Given the description of an element on the screen output the (x, y) to click on. 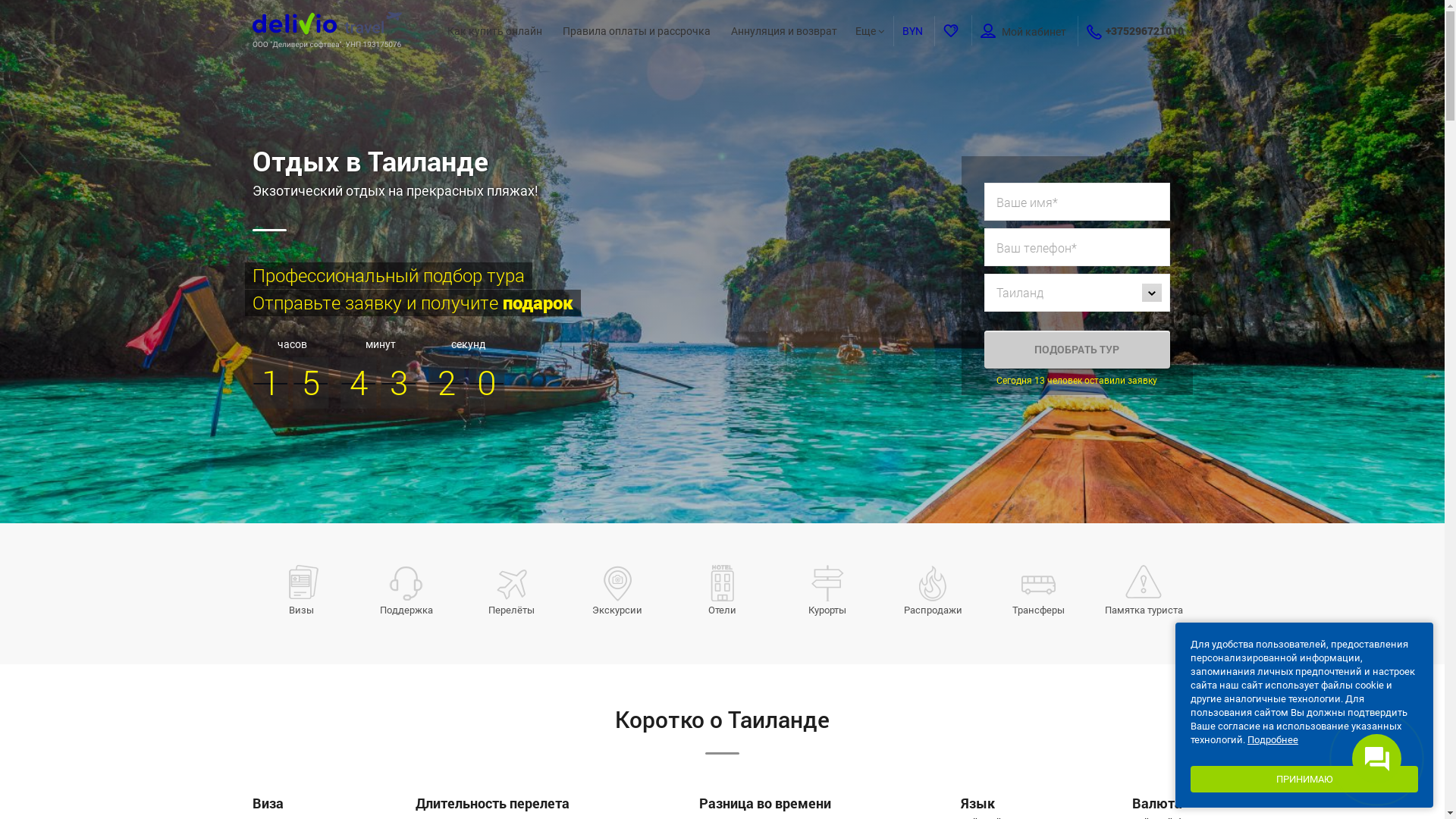
+375296721010 Element type: text (1144, 30)
